Given the description of an element on the screen output the (x, y) to click on. 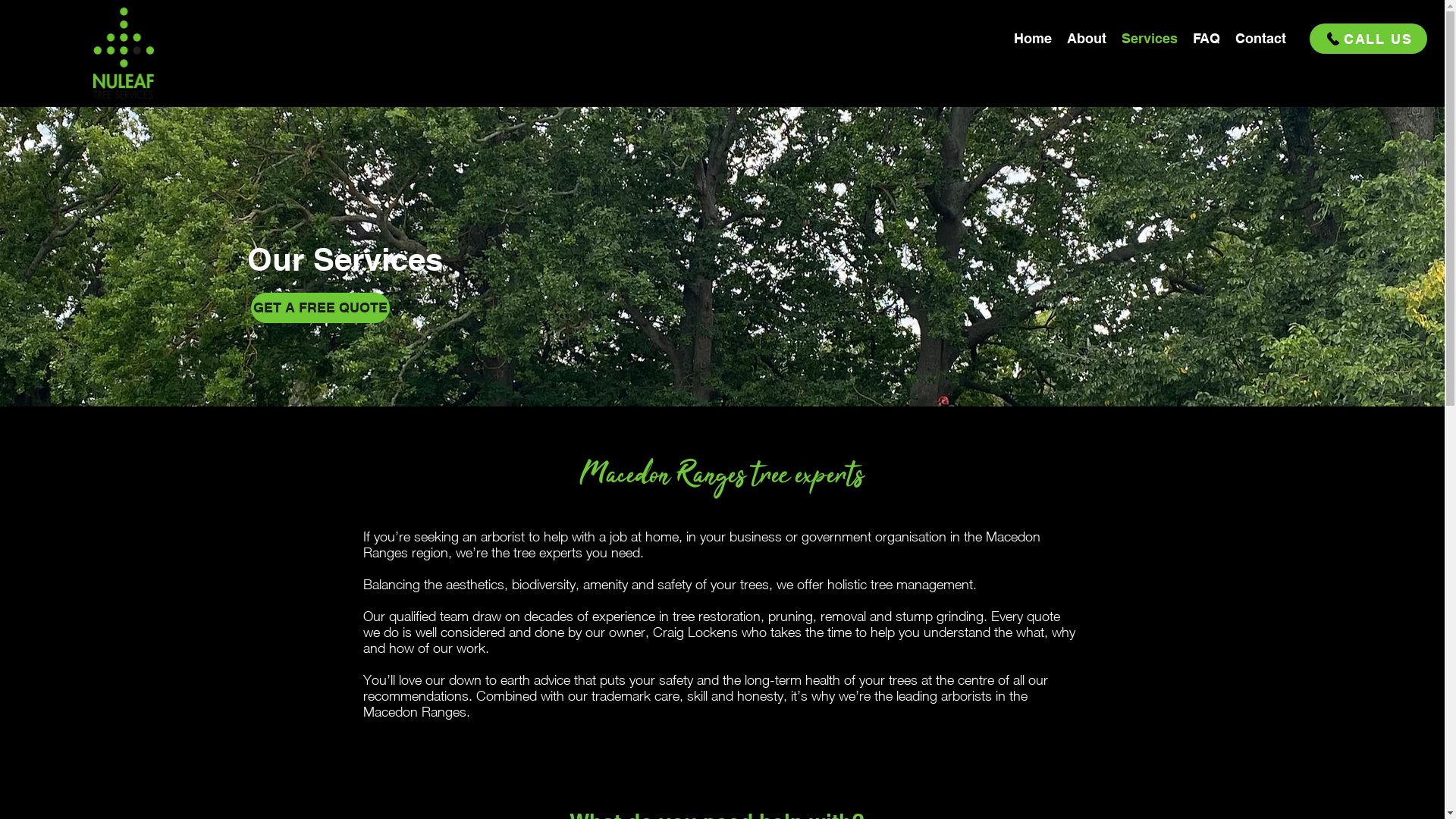
FAQ Element type: text (1206, 38)
Contact Element type: text (1260, 38)
GET A FREE QUOTE Element type: text (320, 307)
Home Element type: text (1032, 38)
Services Element type: text (1149, 38)
CALL US Element type: text (1368, 38)
About Element type: text (1086, 38)
